Given the description of an element on the screen output the (x, y) to click on. 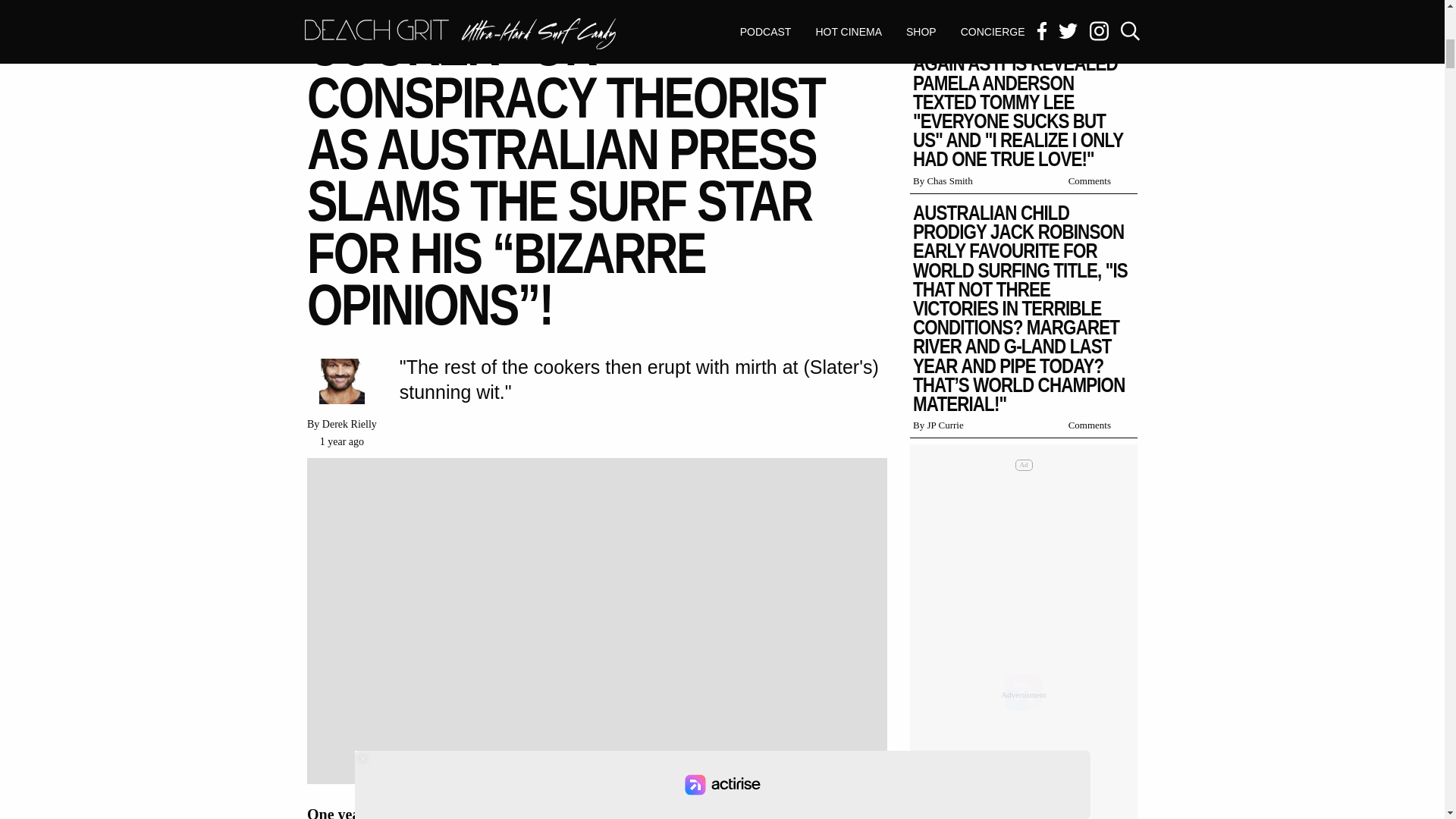
the notoriously unrestrained Australian press (543, 812)
Derek Rielly (349, 423)
